Given the description of an element on the screen output the (x, y) to click on. 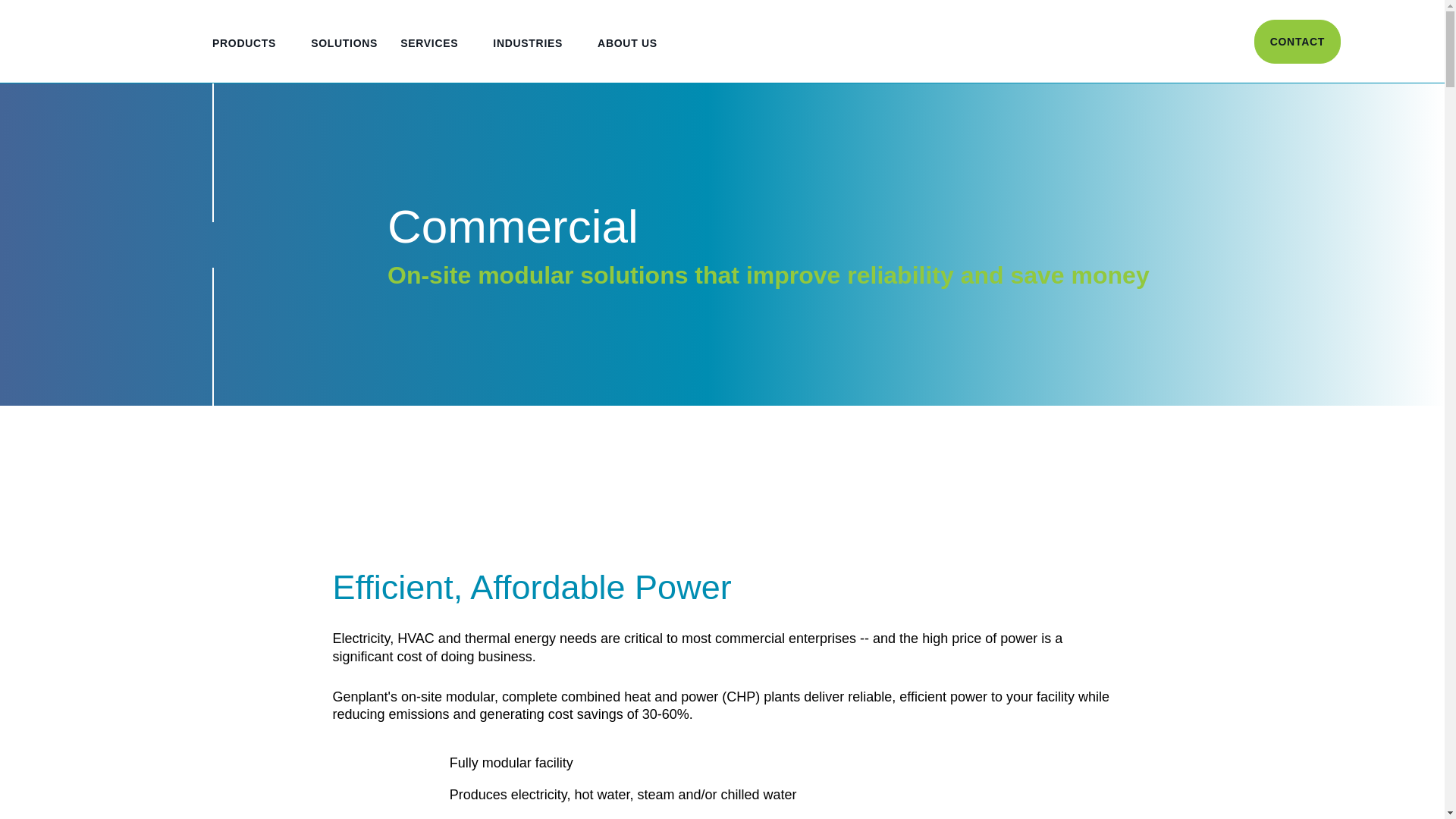
CONTACT (1296, 41)
SERVICES (435, 59)
INDUSTRIES (534, 59)
PRODUCTS (250, 59)
ABOUT US (632, 59)
Genplant (85, 41)
SOLUTIONS (344, 59)
